Given the description of an element on the screen output the (x, y) to click on. 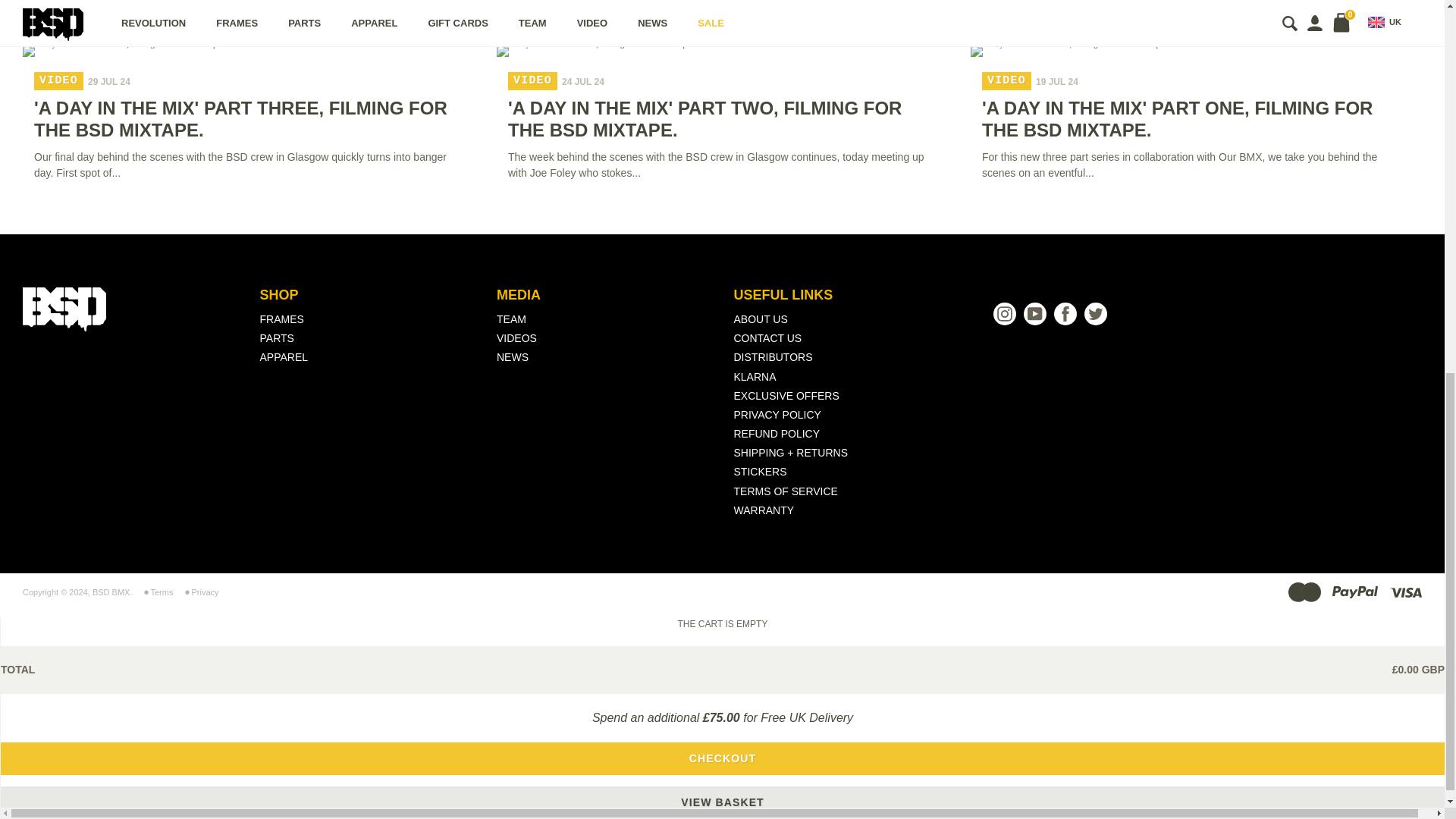
BSD BMX on YouTube (1034, 313)
BSD BMX on Instagram (1004, 313)
BSD BMX on Facebook (1065, 313)
BSD BMX on Twitter (1095, 313)
